Given the description of an element on the screen output the (x, y) to click on. 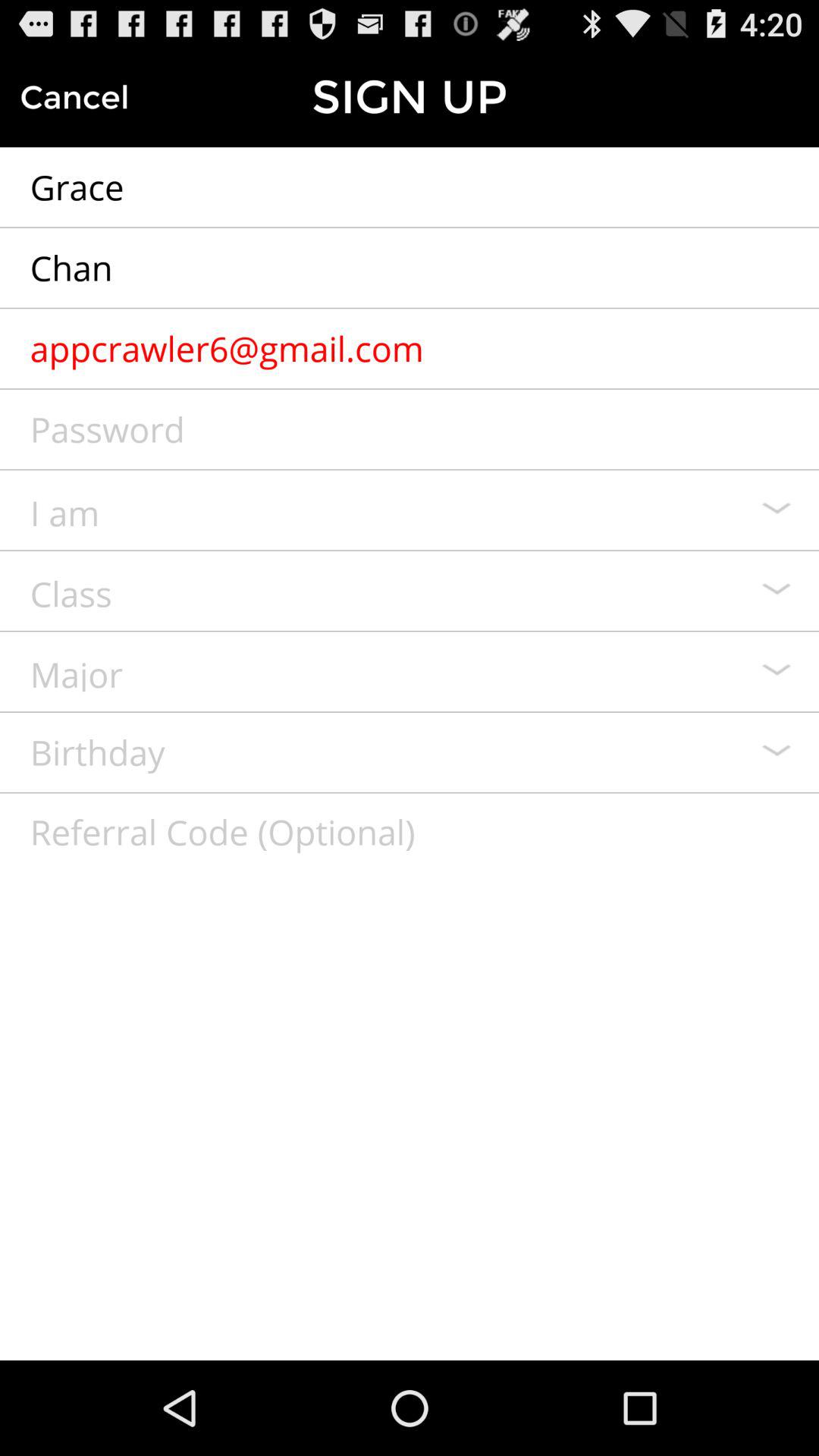
enter birthday (409, 752)
